Given the description of an element on the screen output the (x, y) to click on. 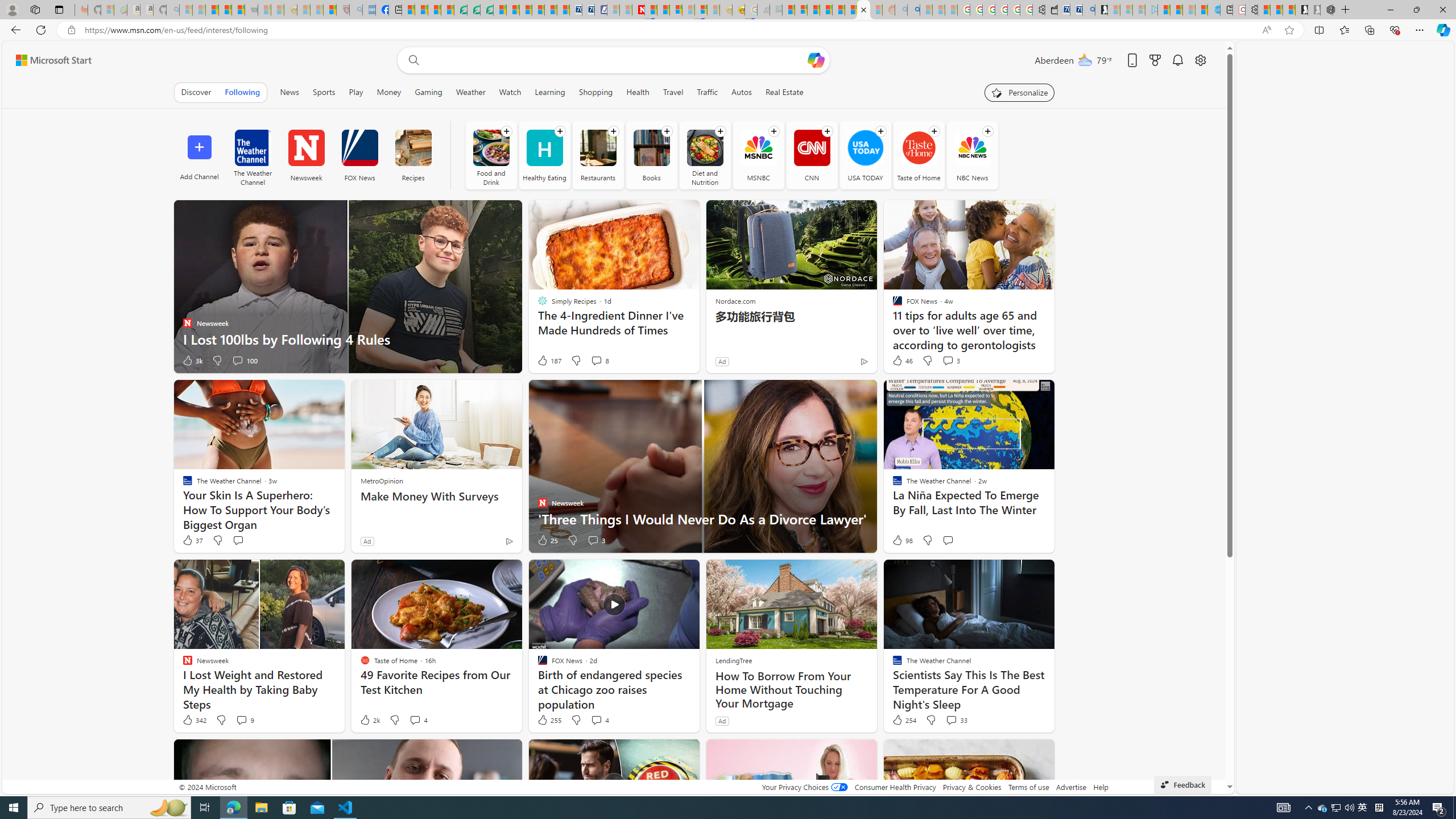
Terms of use (1028, 786)
NBC News (972, 155)
Cheap Car Rentals - Save70.com (1076, 9)
Healthy Eating (544, 155)
